Given the description of an element on the screen output the (x, y) to click on. 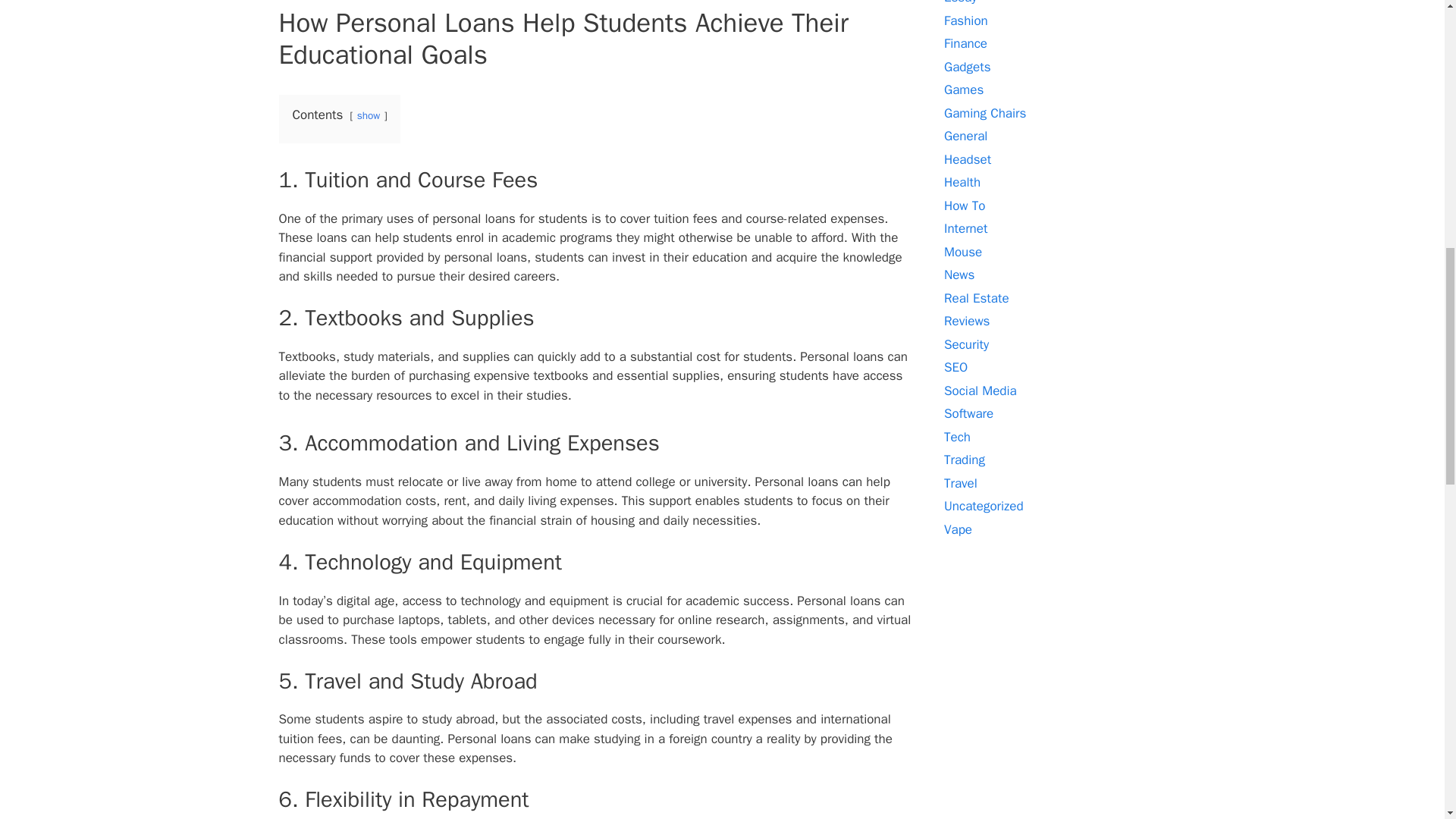
show (368, 115)
Scroll back to top (1406, 720)
